Given the description of an element on the screen output the (x, y) to click on. 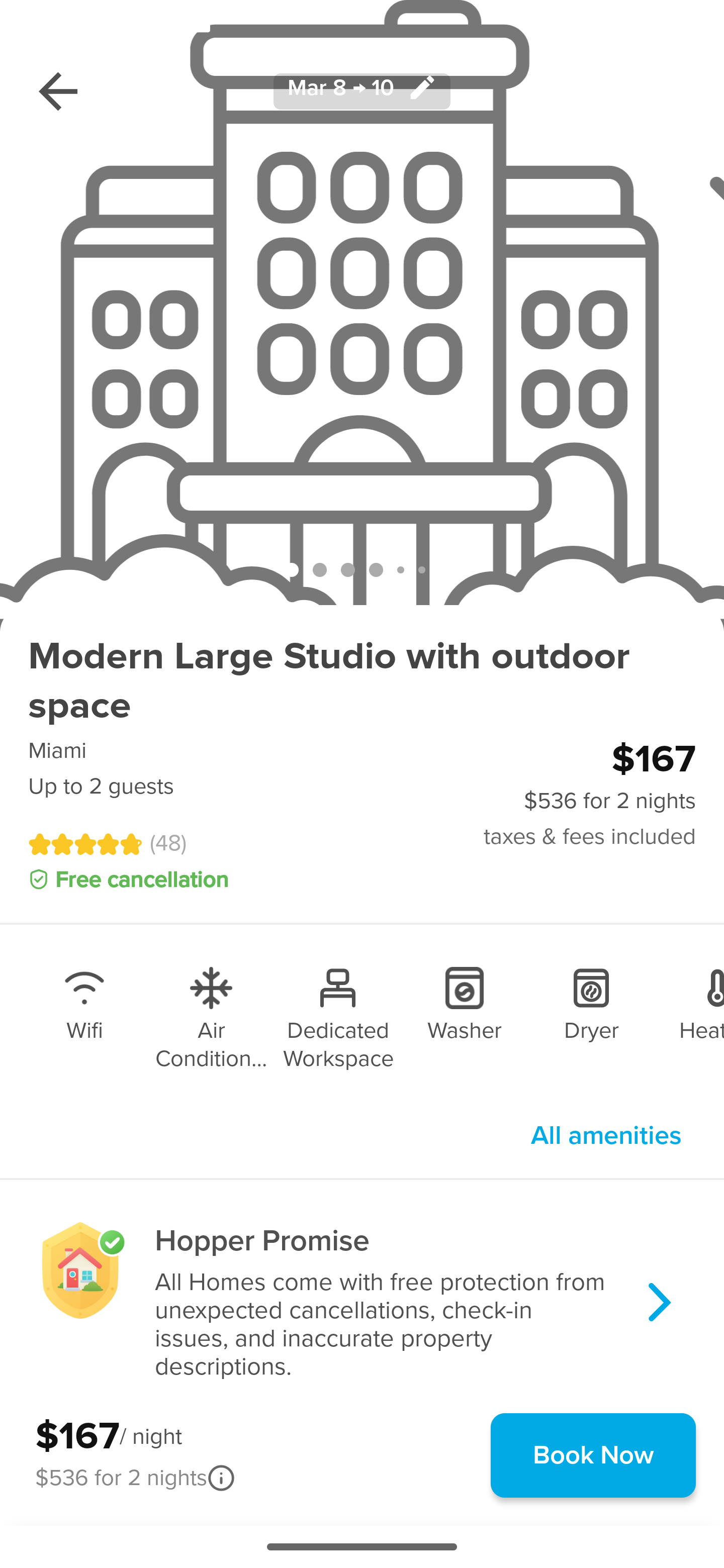
Mar 8 → 10 (361, 90)
Modern Large Studio with outdoor space (361, 681)
All amenities (606, 1134)
Book Now (592, 1454)
